Given the description of an element on the screen output the (x, y) to click on. 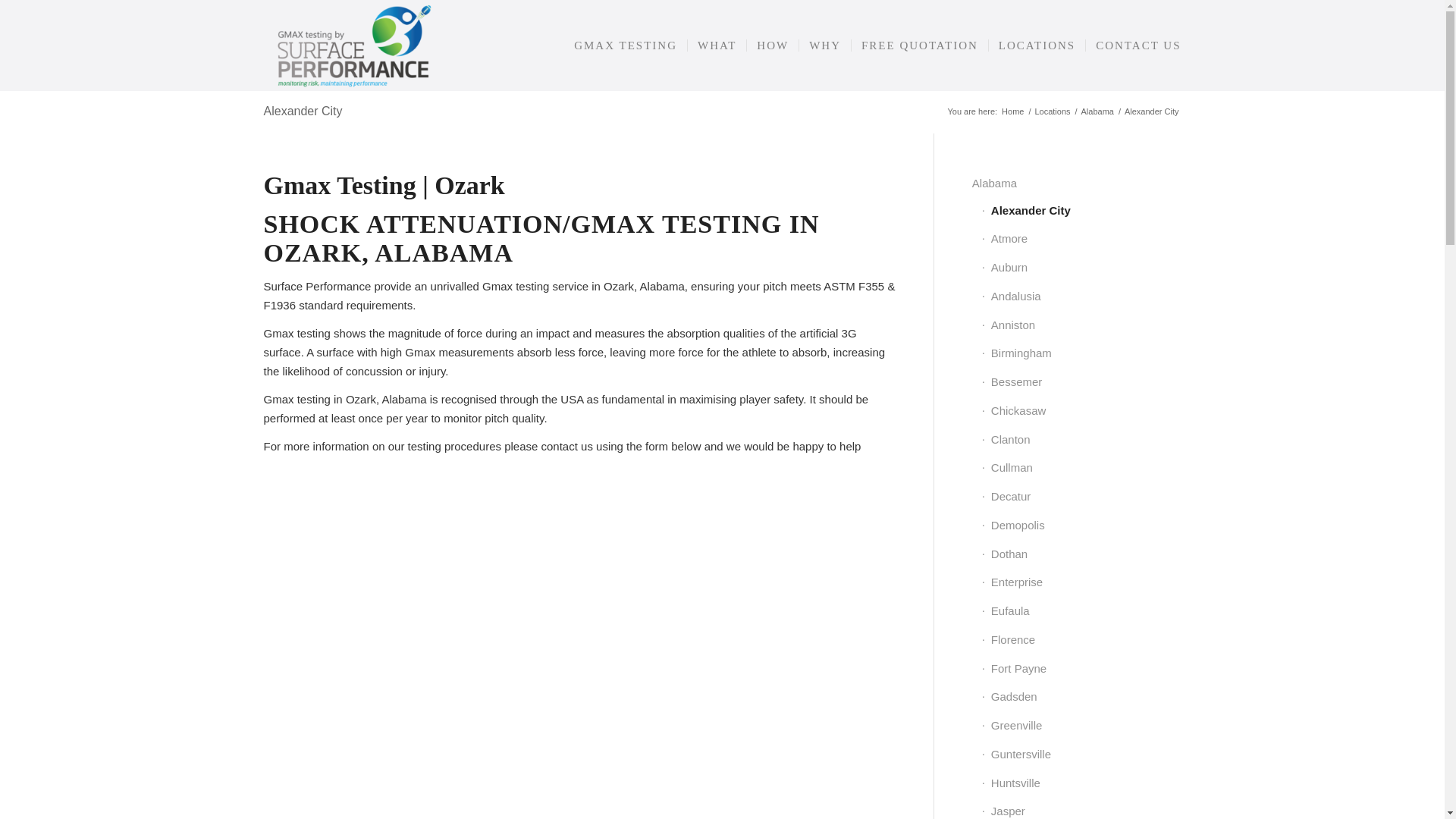
Birmingham (1080, 353)
Greenville (1080, 726)
Locations (1051, 111)
Chickasaw (1080, 411)
Enterprise (1080, 582)
Andalusia (1080, 297)
Huntsville (1080, 783)
Permanent Link: Alexander City (302, 110)
GMAX TESTING (625, 45)
Atmore (1080, 239)
Gmax Testing (1012, 111)
Locations (1051, 111)
Decatur (1080, 497)
Alexander City (302, 110)
Florence (1080, 640)
